Given the description of an element on the screen output the (x, y) to click on. 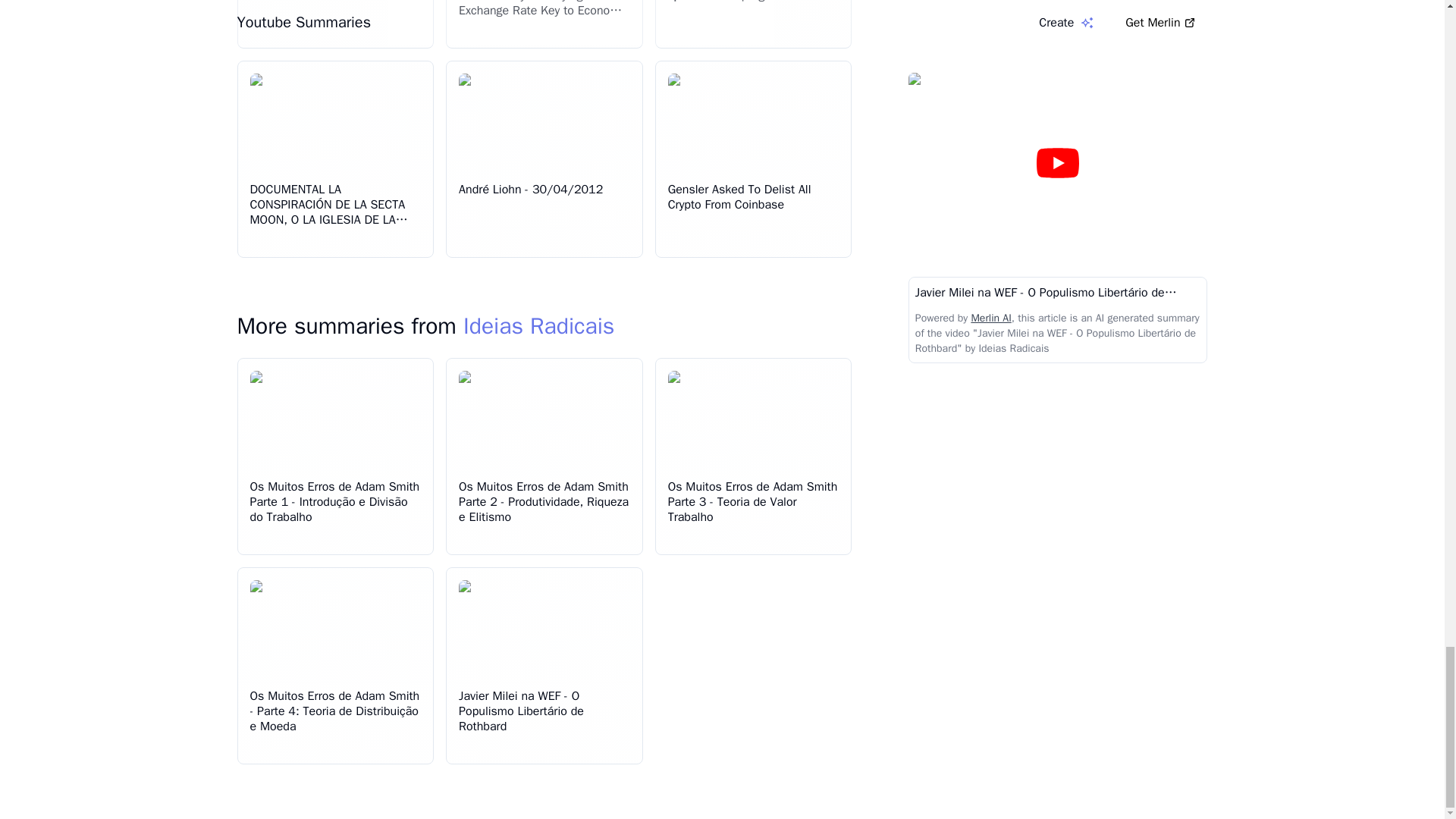
Gensler Asked To Delist All Crypto From Coinbase (739, 196)
Ideias Radicais (538, 326)
